Given the description of an element on the screen output the (x, y) to click on. 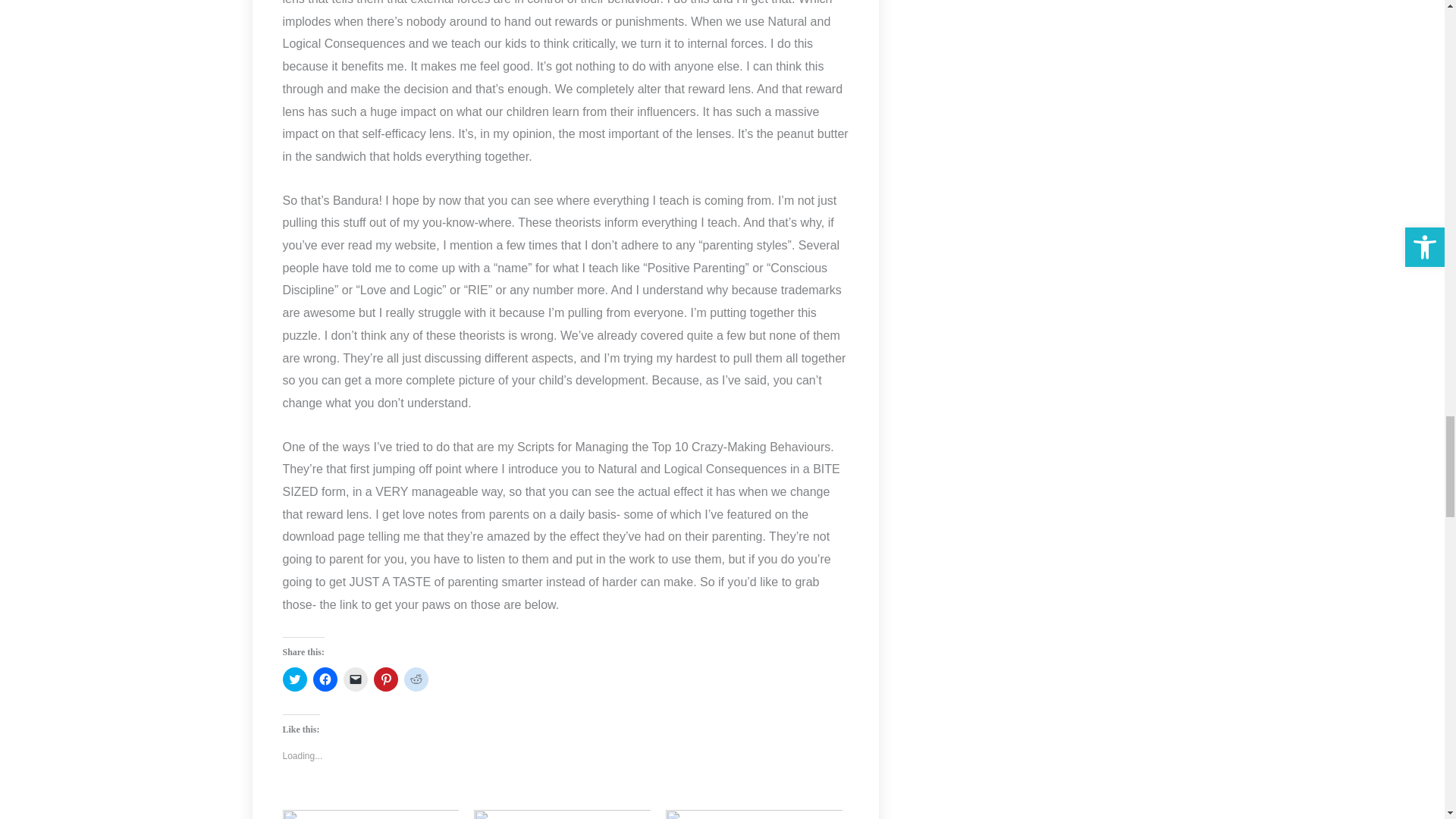
Early Childhood Theorists Series: Lev Vygotsky (370, 814)
Early Childhood Theorists Series: Urie Bronfenbrenner (562, 814)
Click to share on Facebook (324, 679)
Click to share on Reddit (415, 679)
Click to share on Twitter (293, 679)
Early Childhood Theorists: Loris Malaguzzi (754, 814)
Click to share on Pinterest (384, 679)
Click to email a link to a friend (354, 679)
